Given the description of an element on the screen output the (x, y) to click on. 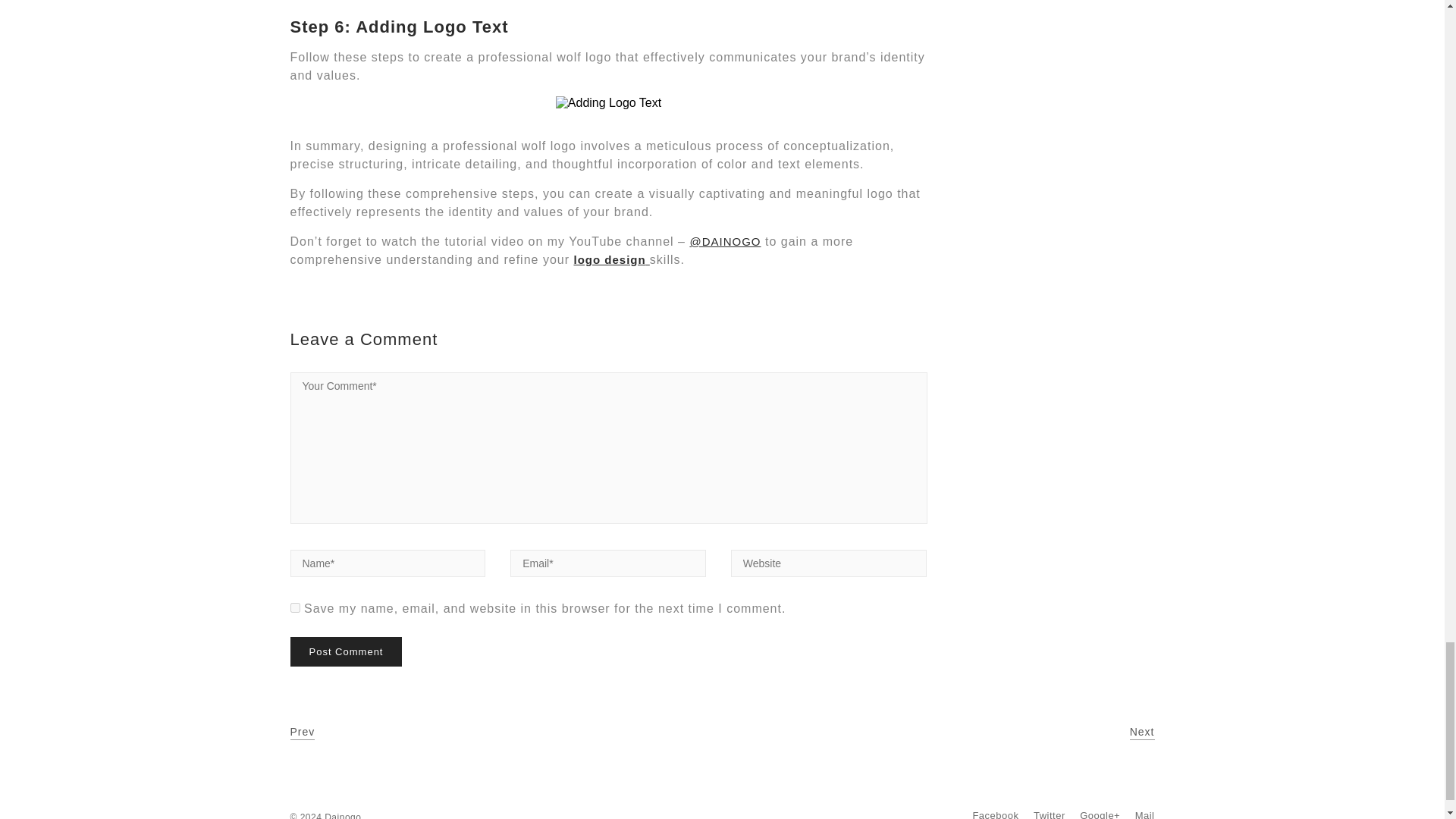
logo design (611, 259)
yes (294, 607)
Post Comment (345, 651)
Next (1141, 732)
Post Comment (345, 651)
Prev (301, 732)
